Given the description of an element on the screen output the (x, y) to click on. 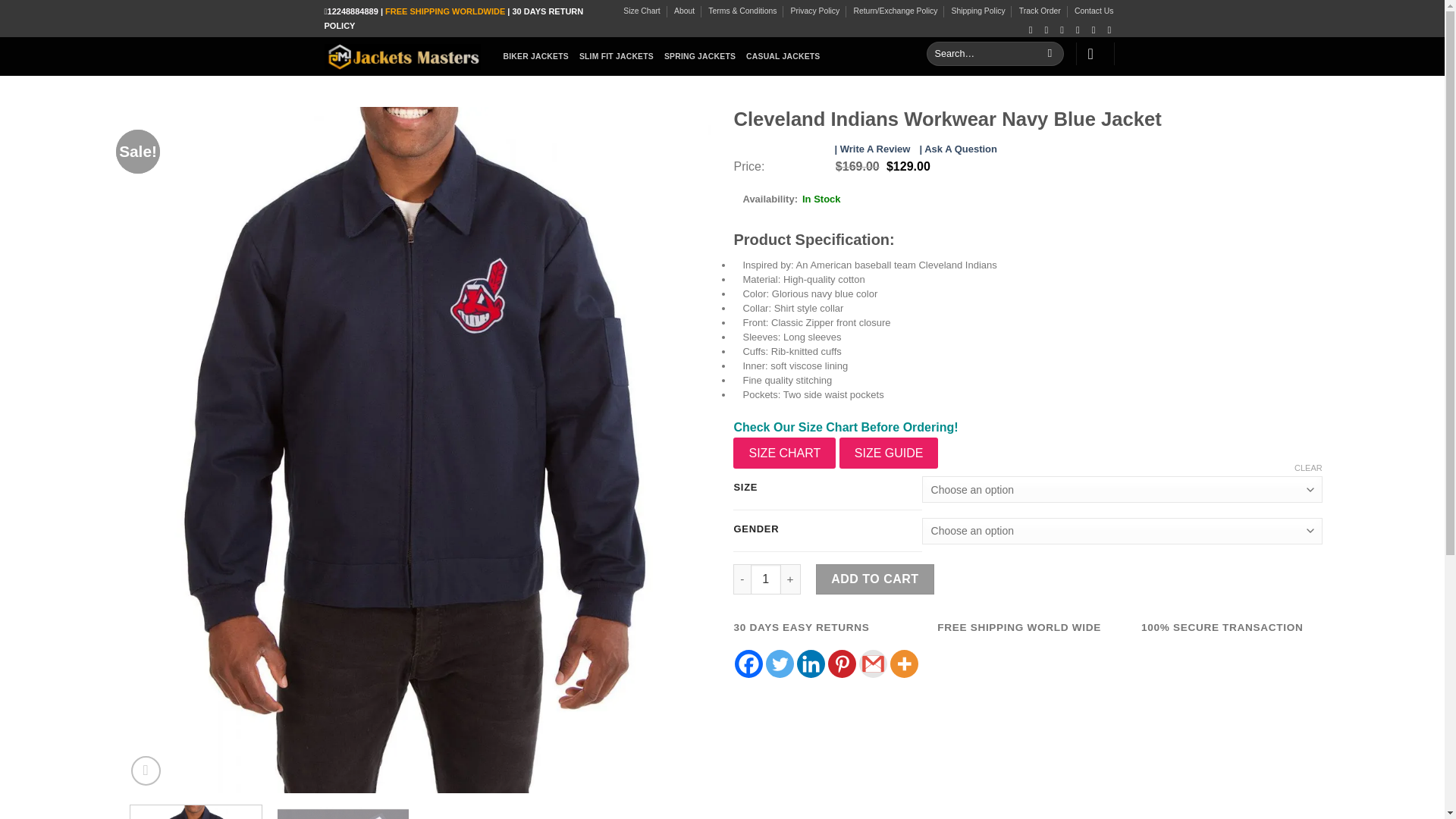
CASUAL JACKETS (782, 56)
SIZE GUIDE (889, 453)
Privacy Policy (815, 11)
1 (765, 579)
SIZE CHART (784, 453)
Track Order (1040, 11)
Zoom (145, 770)
SLIM FIT JACKETS (616, 56)
Contact Us (1093, 11)
Search (1050, 53)
